Given the description of an element on the screen output the (x, y) to click on. 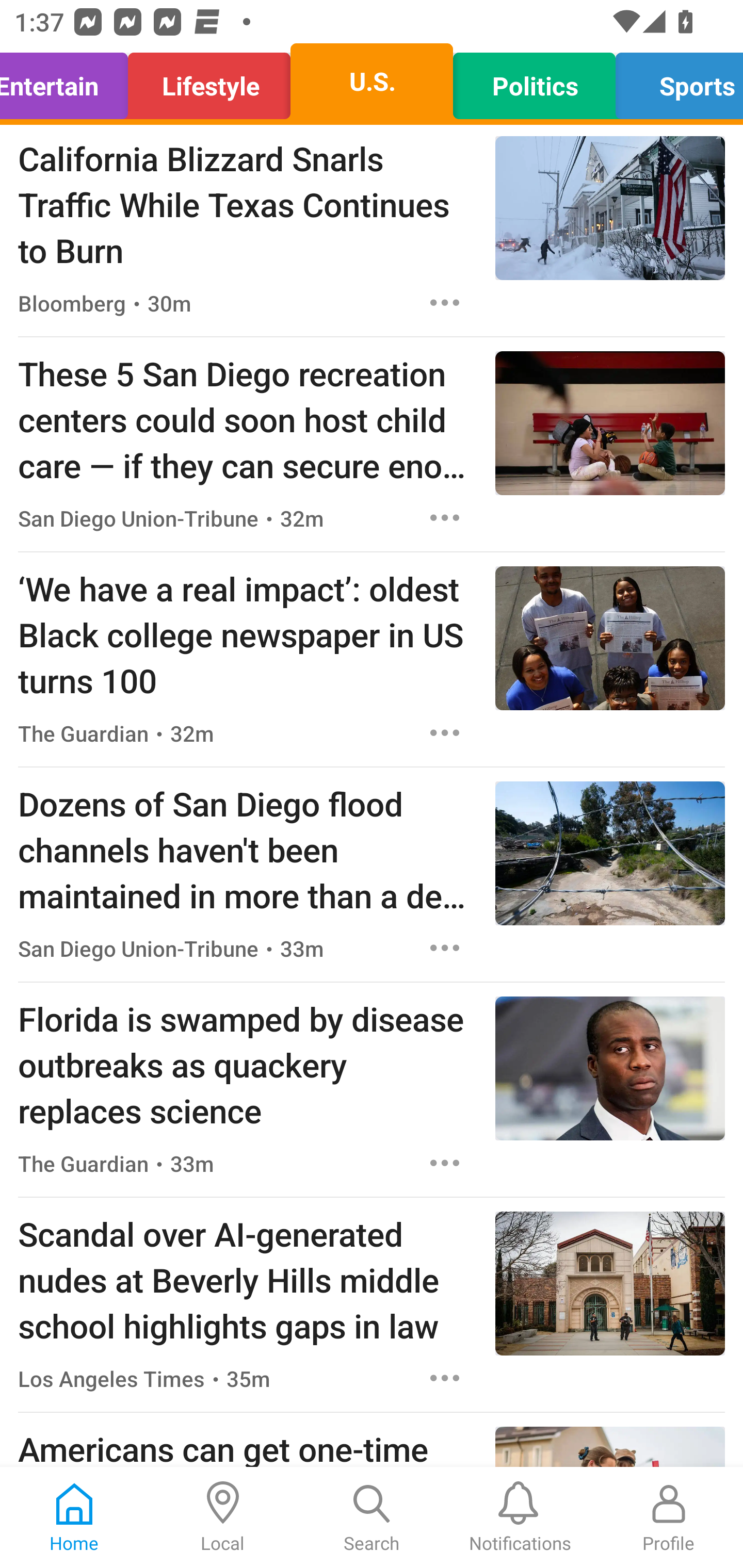
Entertain (69, 81)
Lifestyle (209, 81)
U.S. (371, 81)
Politics (534, 81)
Sports (673, 81)
Options (444, 302)
Options (444, 517)
Options (444, 732)
Options (444, 947)
Options (444, 1163)
Options (444, 1378)
Local (222, 1517)
Search (371, 1517)
Notifications (519, 1517)
Profile (668, 1517)
